Given the description of an element on the screen output the (x, y) to click on. 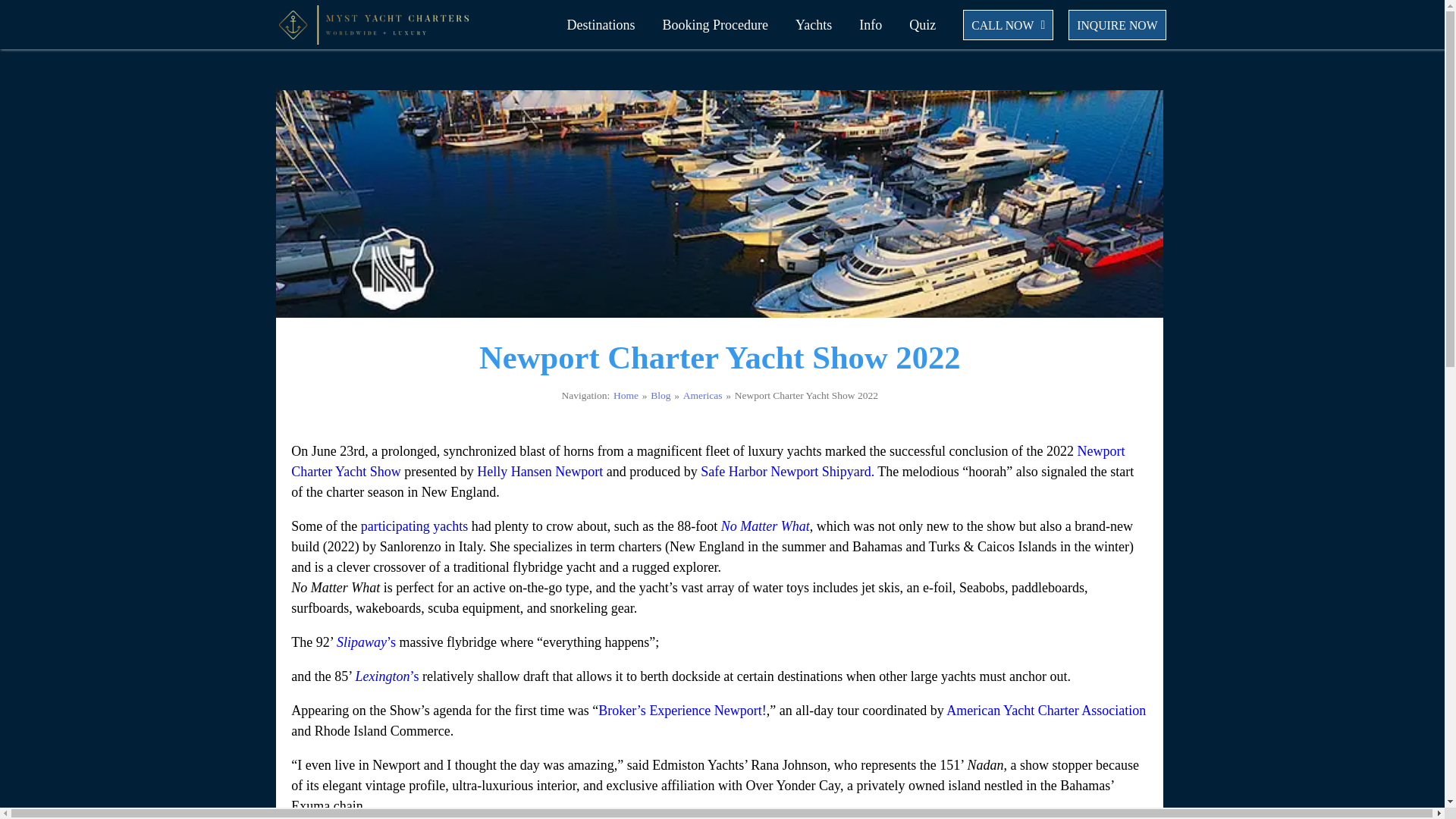
Info (872, 24)
Destinations (603, 24)
Yachts (814, 24)
Booking Procedure (717, 24)
